Given the description of an element on the screen output the (x, y) to click on. 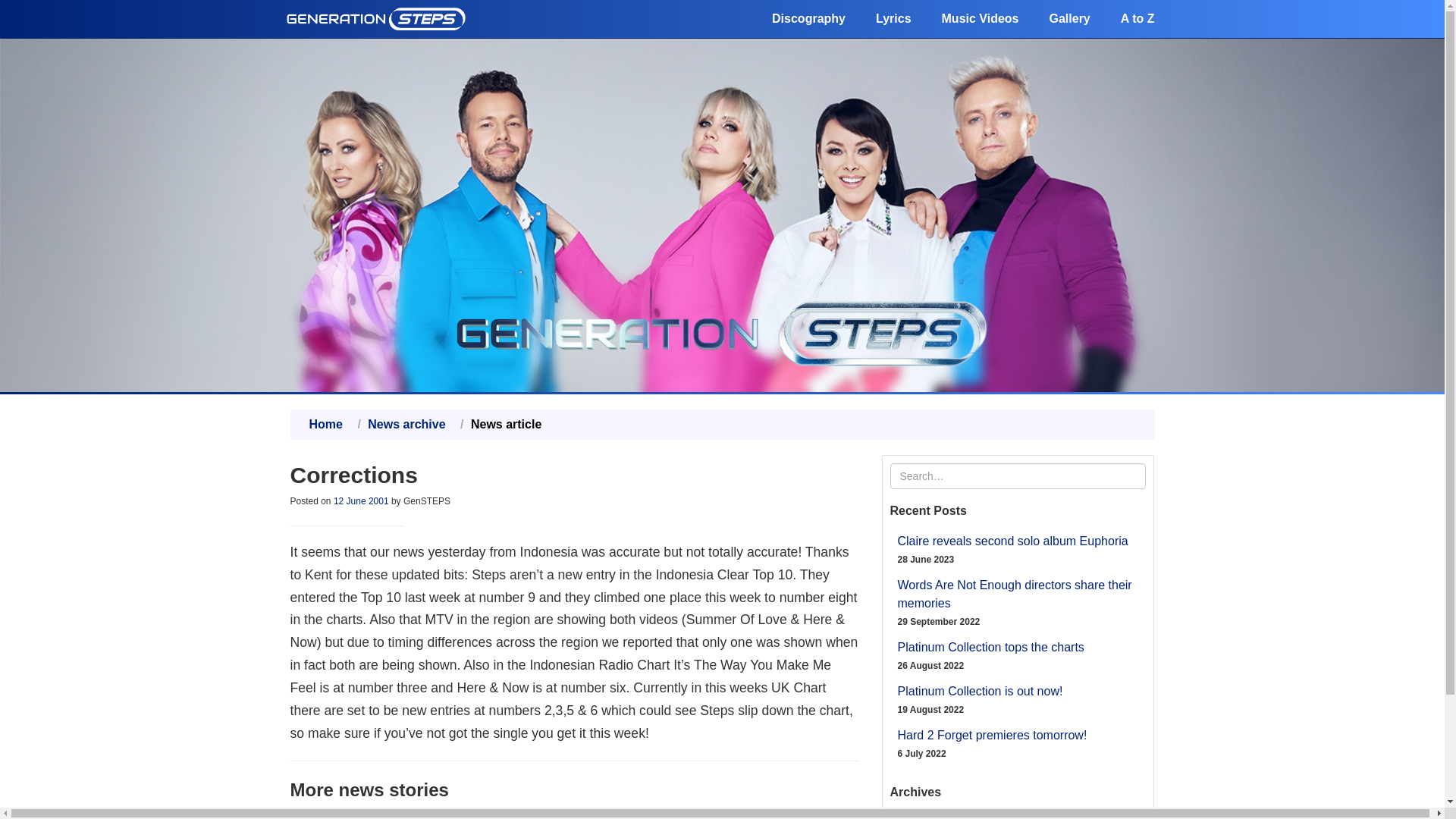
Hard 2 Forget premieres tomorrow! (992, 735)
Generation STEPS (375, 18)
Home (325, 423)
Platinum Collection is out now! (980, 690)
12 June 2001 (360, 501)
Lyrics (893, 18)
News archive (406, 423)
Platinum Collection tops the charts (991, 646)
Gallery (1068, 18)
Music Videos (980, 18)
Claire reveals second solo album Euphoria (1013, 540)
Words Are Not Enough directors share their memories (1015, 593)
A to Z (1137, 18)
Discography (808, 18)
